Given the description of an element on the screen output the (x, y) to click on. 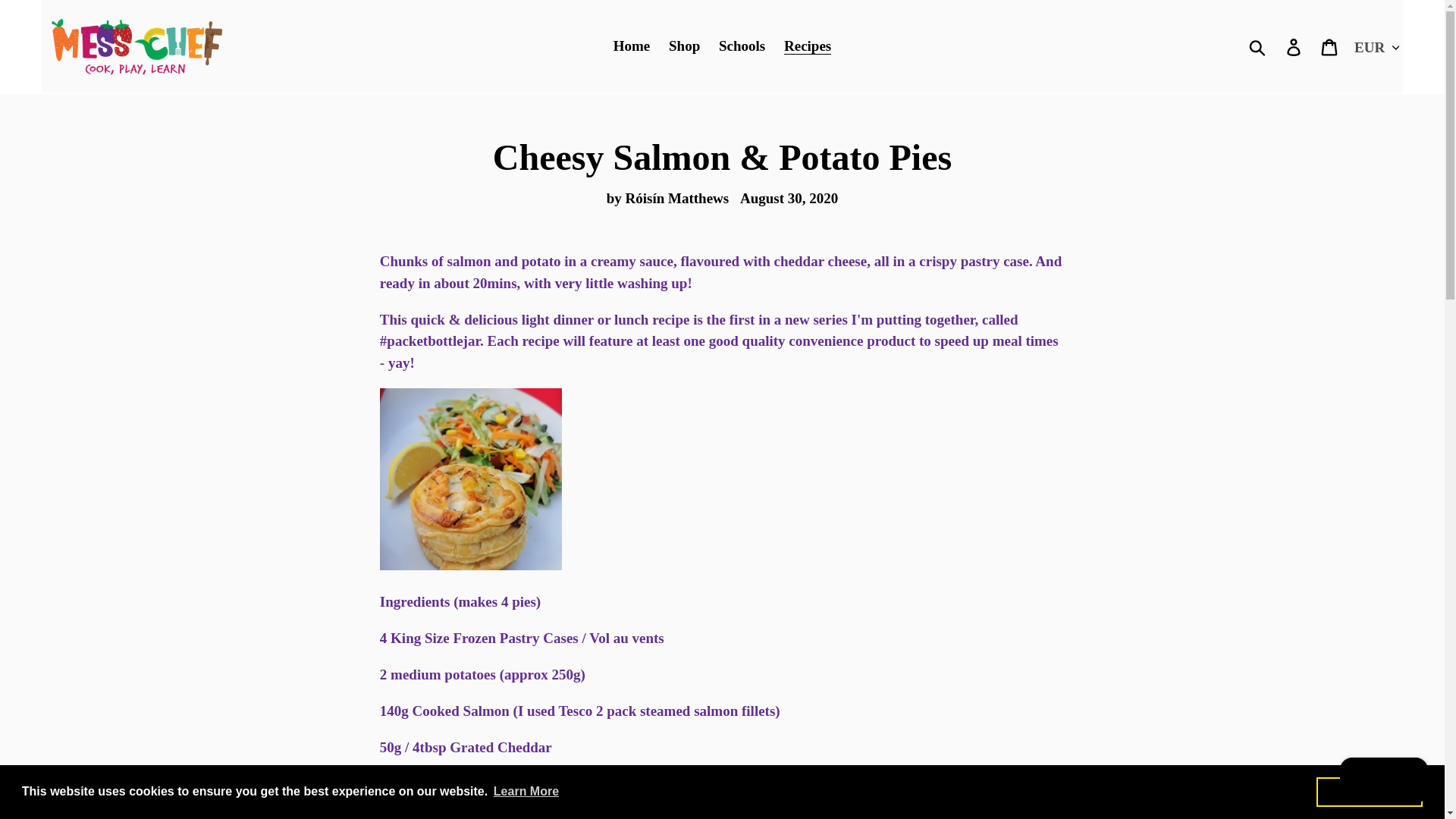
Learn More (527, 791)
Shop (684, 46)
Shopify online store chat (1383, 781)
Recipes (807, 46)
Got it! (1369, 791)
Submit (1258, 46)
Cart (1330, 46)
Schools (742, 46)
Log in (1294, 46)
Home (631, 46)
